Given the description of an element on the screen output the (x, y) to click on. 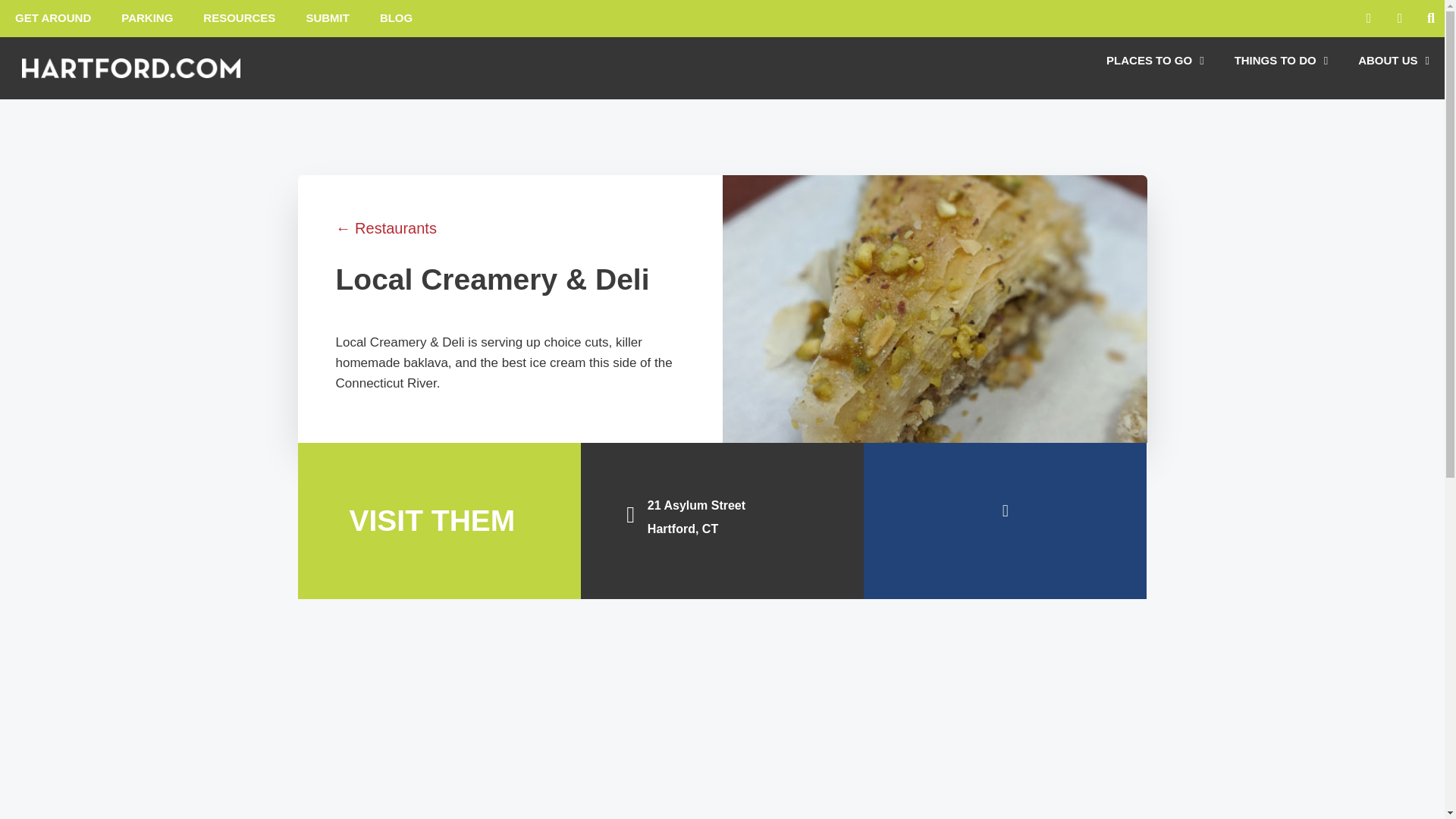
BLOG (396, 18)
THINGS TO DO (1281, 60)
GET AROUND (53, 18)
PLACES TO GO (1155, 60)
RESOURCES (238, 18)
PARKING (146, 18)
SUBMIT (327, 18)
